Given the description of an element on the screen output the (x, y) to click on. 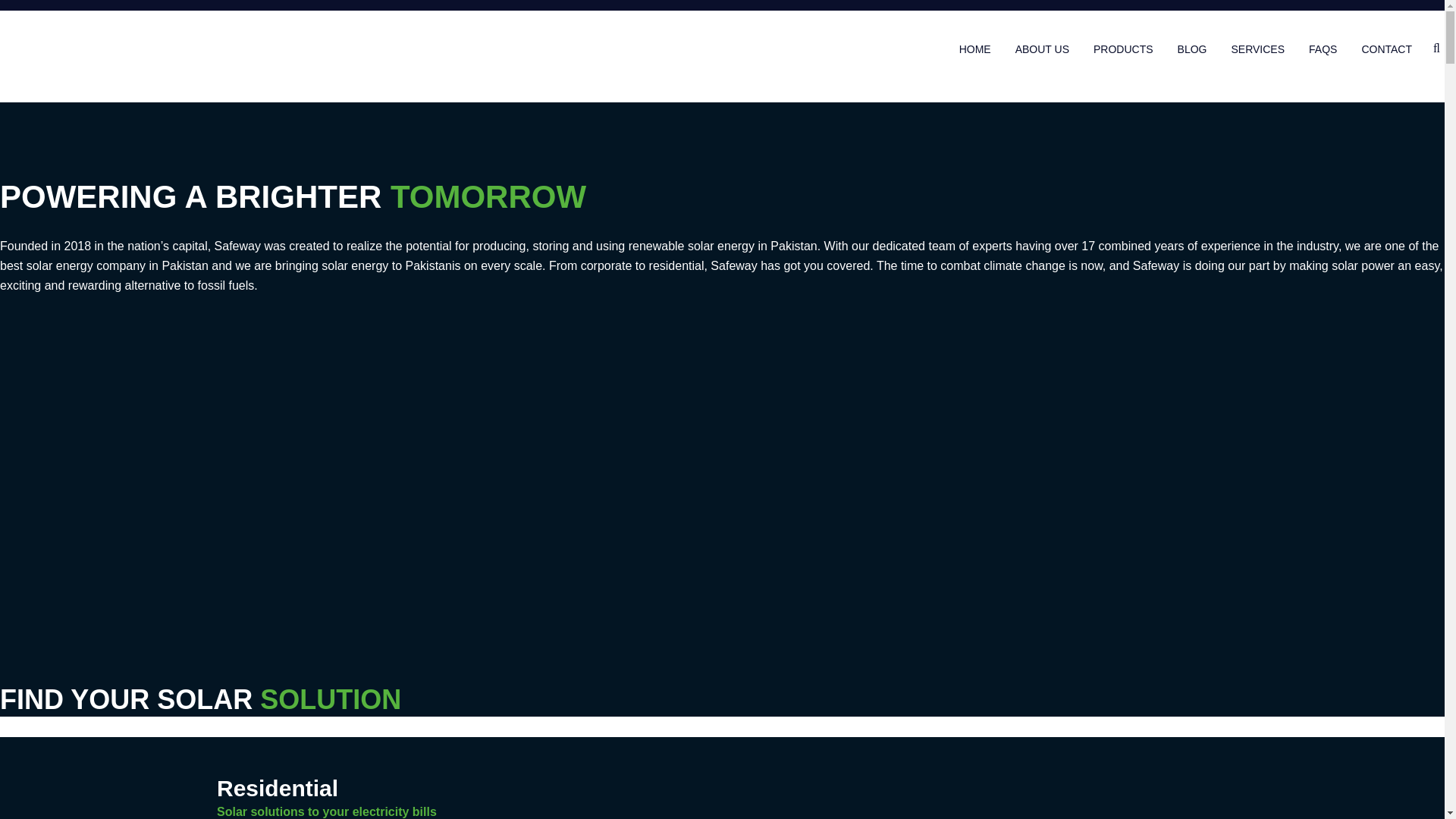
ABOUT US (1041, 49)
PRODUCTS (1123, 49)
SERVICES (1257, 49)
HOME (975, 49)
CONTACT (1386, 49)
FAQS (1322, 49)
BLOG (1192, 49)
